Given the description of an element on the screen output the (x, y) to click on. 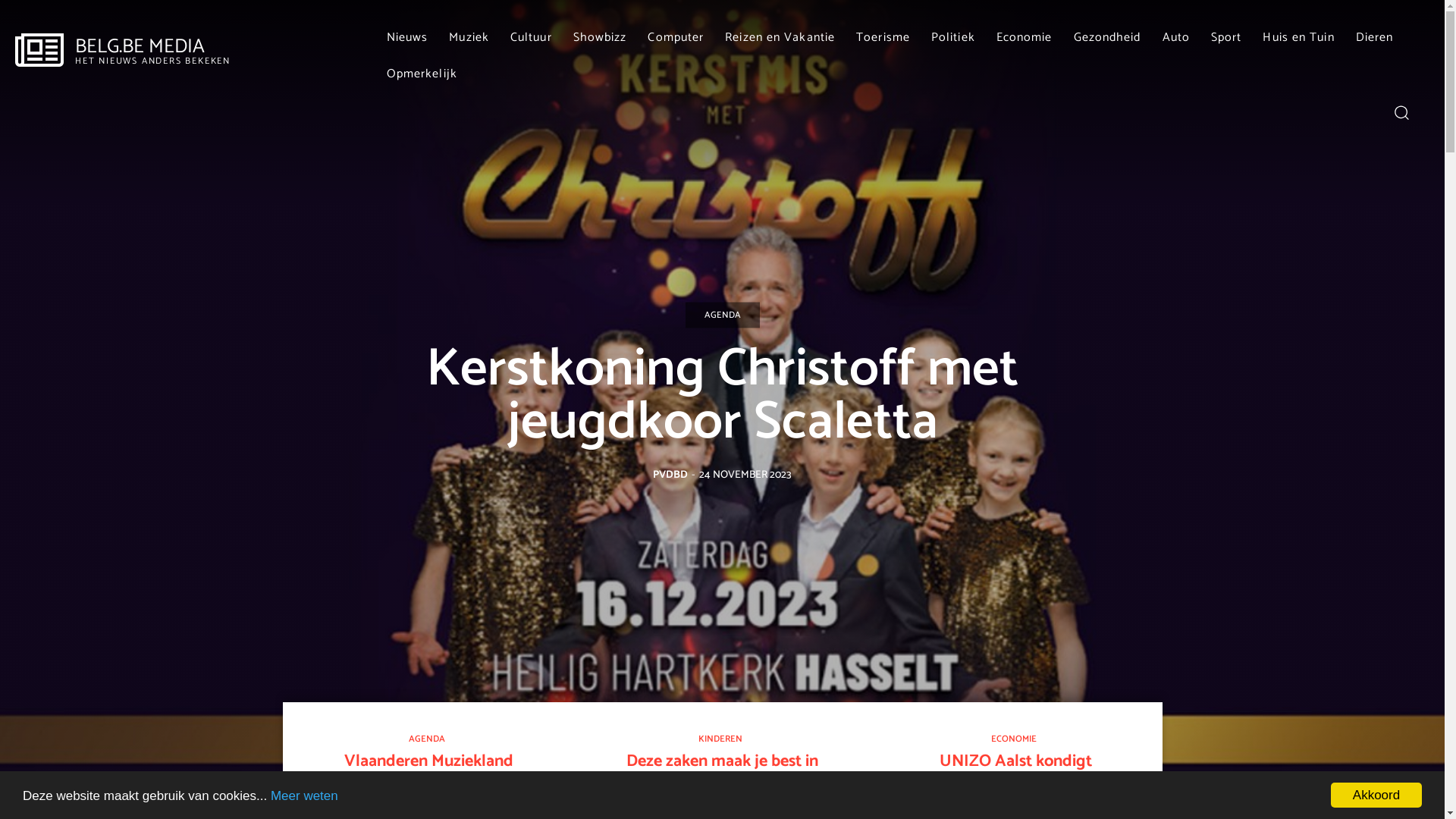
AGENDA Element type: text (426, 739)
Cultuur Element type: text (530, 37)
Auto Element type: text (1175, 37)
Kerstkoning Christoff met jeugdkoor Scaletta Element type: text (722, 396)
Sport Element type: text (1226, 37)
UNIZO Aalst kondigt verrassende voorzittersverandering aan Element type: text (1015, 781)
Akkoord Element type: text (1375, 794)
Showbizz Element type: text (599, 37)
Muziek Element type: text (468, 37)
PVDBD Element type: text (669, 474)
Dieren Element type: text (1374, 37)
Deze zaken maak je best in orde voor de geboorte van je baby Element type: text (721, 781)
KINDEREN Element type: text (719, 739)
Opmerkelijk Element type: text (421, 74)
Toerisme Element type: text (882, 37)
Nieuws Element type: text (407, 37)
Meer weten Element type: text (304, 795)
ECONOMIE Element type: text (1013, 739)
Huis en Tuin Element type: text (1298, 37)
Economie Element type: text (1024, 37)
Politiek Element type: text (952, 37)
AGENDA Element type: text (722, 314)
Vlaanderen Muziekland keert dit jaar nog terug Element type: text (428, 770)
BELG.BE MEDIA
HET NIEUWS ANDERS BEKEKEN Element type: text (122, 51)
Reizen en Vakantie Element type: text (779, 37)
Gezondheid Element type: text (1107, 37)
Computer Element type: text (675, 37)
